Given the description of an element on the screen output the (x, y) to click on. 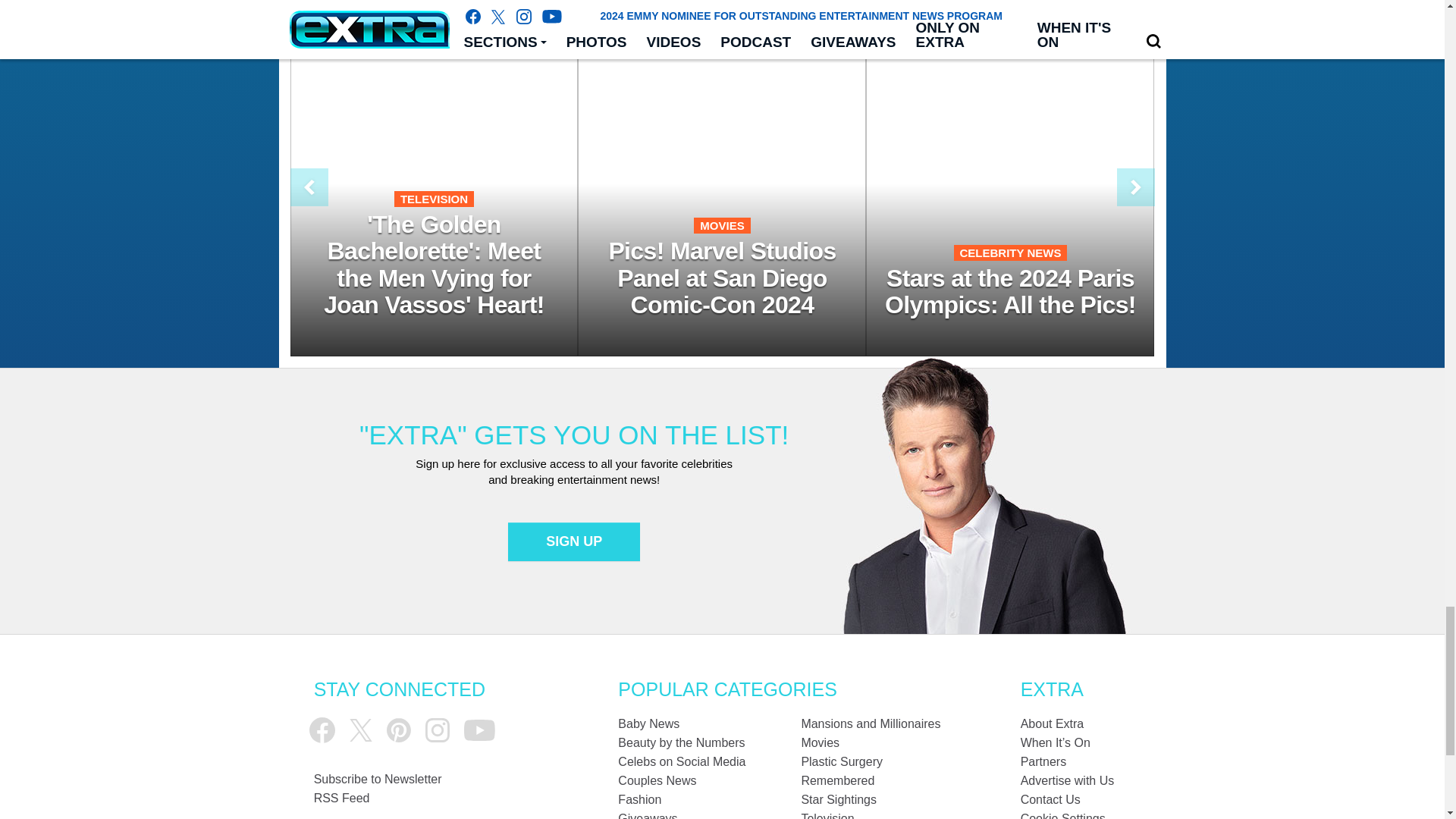
Pinterest (398, 730)
YouTube (479, 730)
Instagram (437, 730)
Twitter (360, 730)
Facebook (321, 729)
